Given the description of an element on the screen output the (x, y) to click on. 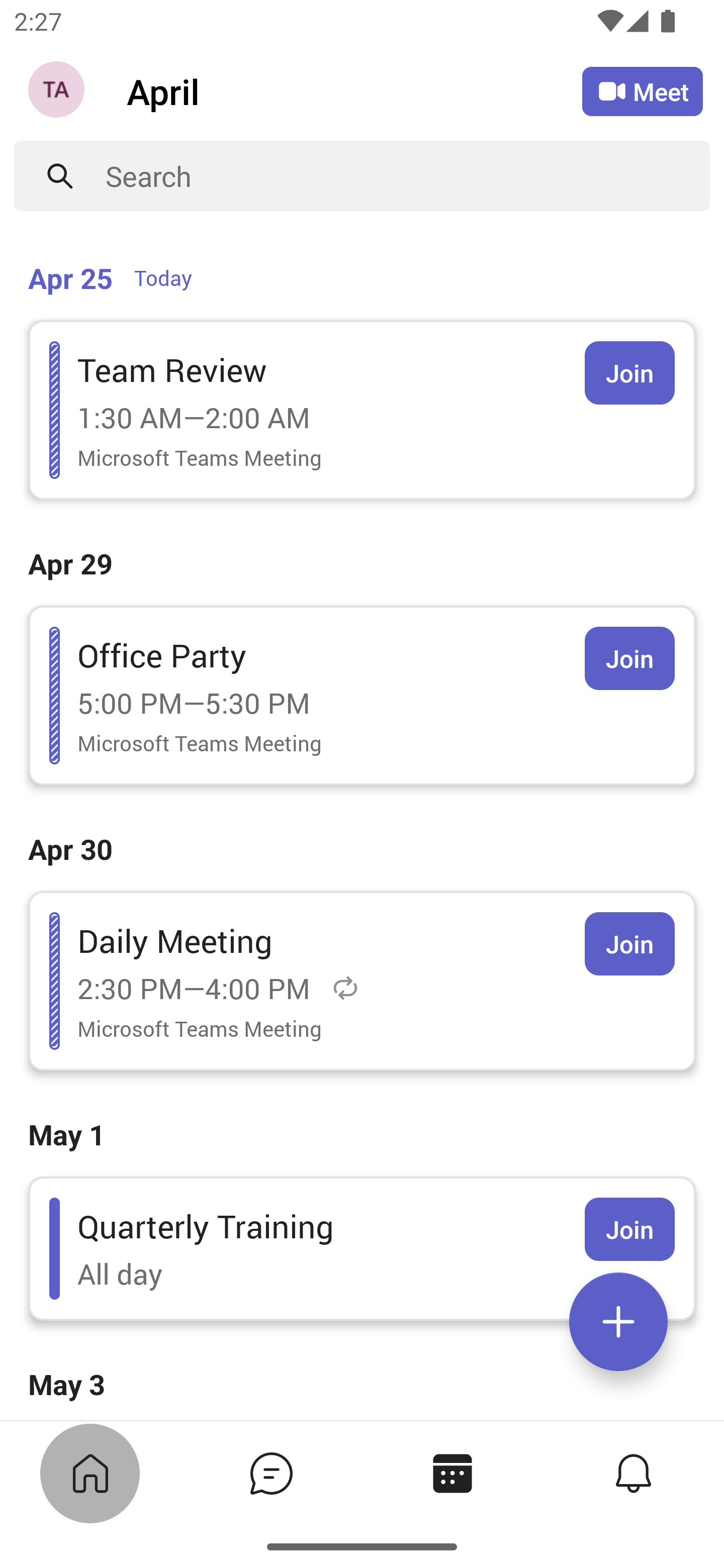
Navigation (58, 91)
Meet Meet now or join with an ID (642, 91)
April April Calendar Agenda View (354, 90)
Search (407, 176)
Join (629, 372)
Join (629, 658)
Join (629, 943)
Join (629, 1228)
Expand meetings menu (618, 1321)
Home tab,1 of 4, not selected (90, 1472)
Chat tab,2 of 4, not selected (271, 1472)
Calendar tab, 3 of 4 (452, 1472)
Activity tab,4 of 4, not selected (633, 1472)
